Given the description of an element on the screen output the (x, y) to click on. 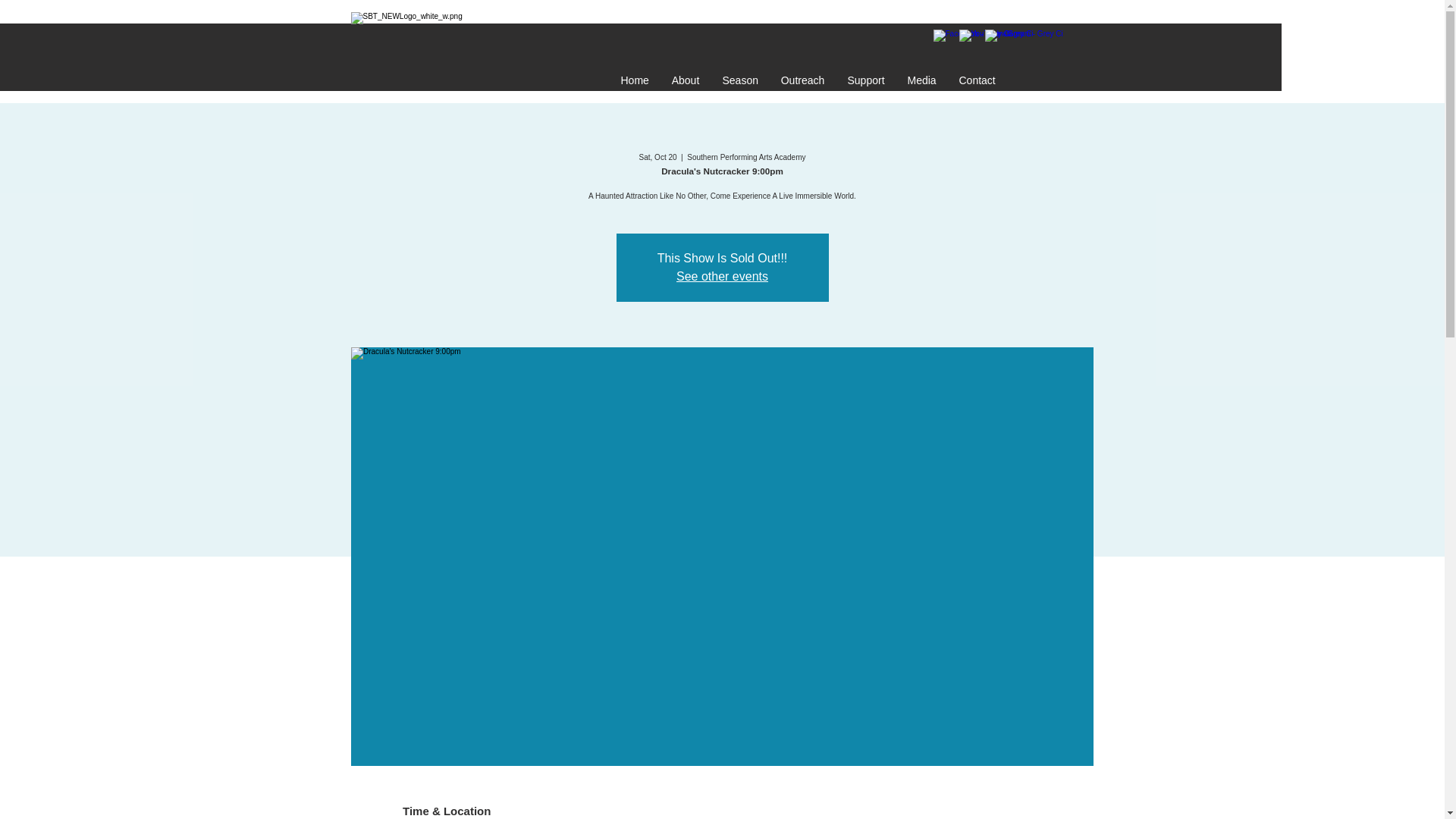
Contact (977, 79)
See other events (722, 276)
About (684, 79)
Media (921, 79)
Home (635, 79)
Outreach (801, 79)
